Given the description of an element on the screen output the (x, y) to click on. 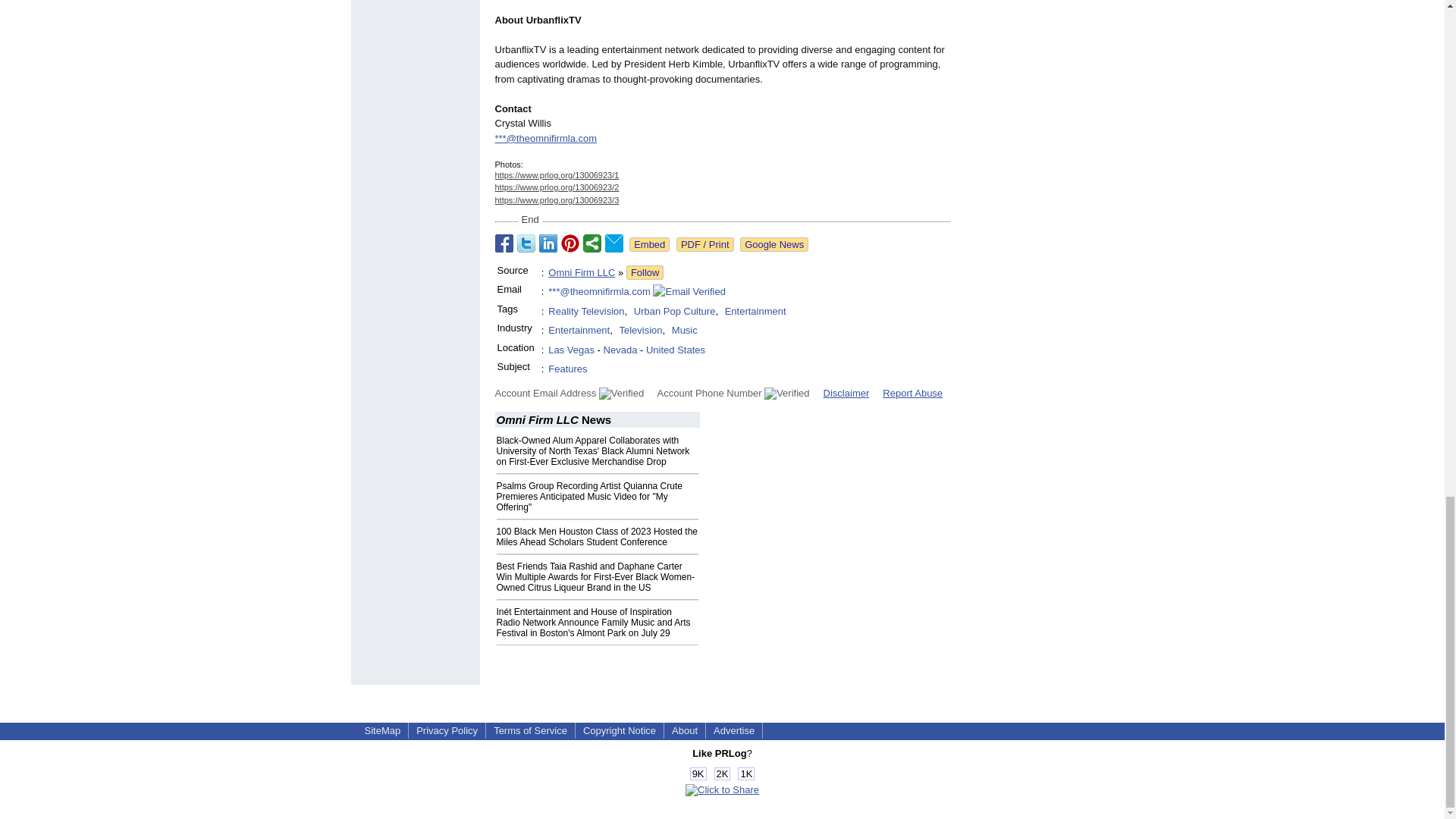
Email to a Friend (614, 243)
Embed (648, 244)
Verified (786, 393)
Share on Facebook (503, 243)
Embed this press release in your website! (648, 244)
Share on LinkedIn (547, 243)
See or print the PDF version! (705, 244)
Share on StumbleUpon, Digg, etc (590, 243)
Email Verified (688, 291)
Share this page! (721, 789)
Share on Twitter (525, 243)
Share on Pinterest (569, 243)
Verified (620, 393)
